Given the description of an element on the screen output the (x, y) to click on. 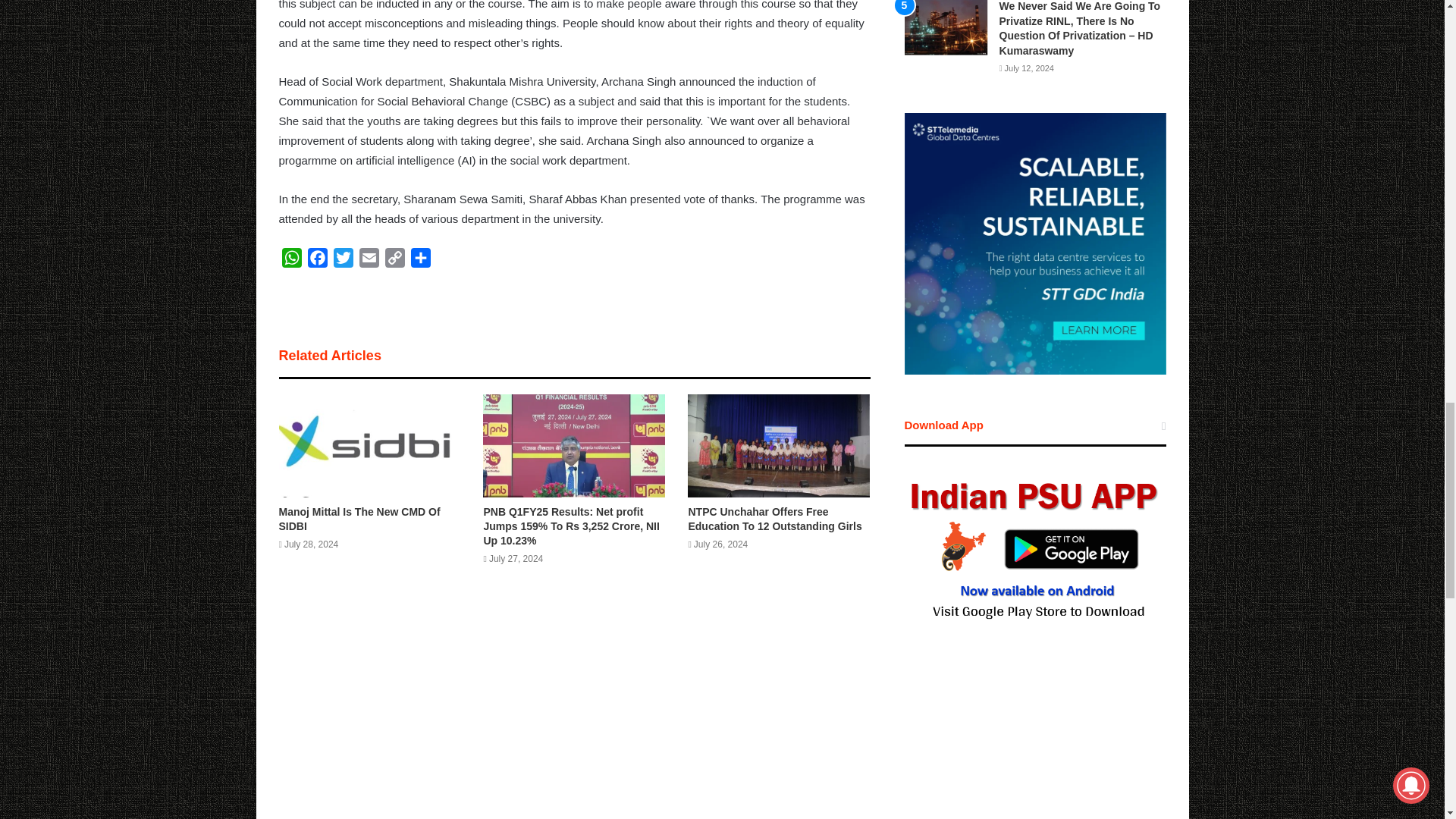
WhatsApp (291, 260)
Twitter (343, 260)
Copy Link (394, 260)
Share (420, 260)
Facebook (317, 260)
Twitter (343, 260)
WhatsApp (291, 260)
Email (368, 260)
Copy Link (394, 260)
Email (368, 260)
Facebook (317, 260)
Manoj Mittal Is The New CMD Of SIDBI (360, 519)
YouTube video player (1035, 750)
NTPC Unchahar Offers Free Education To 12 Outstanding Girls (774, 519)
